Given the description of an element on the screen output the (x, y) to click on. 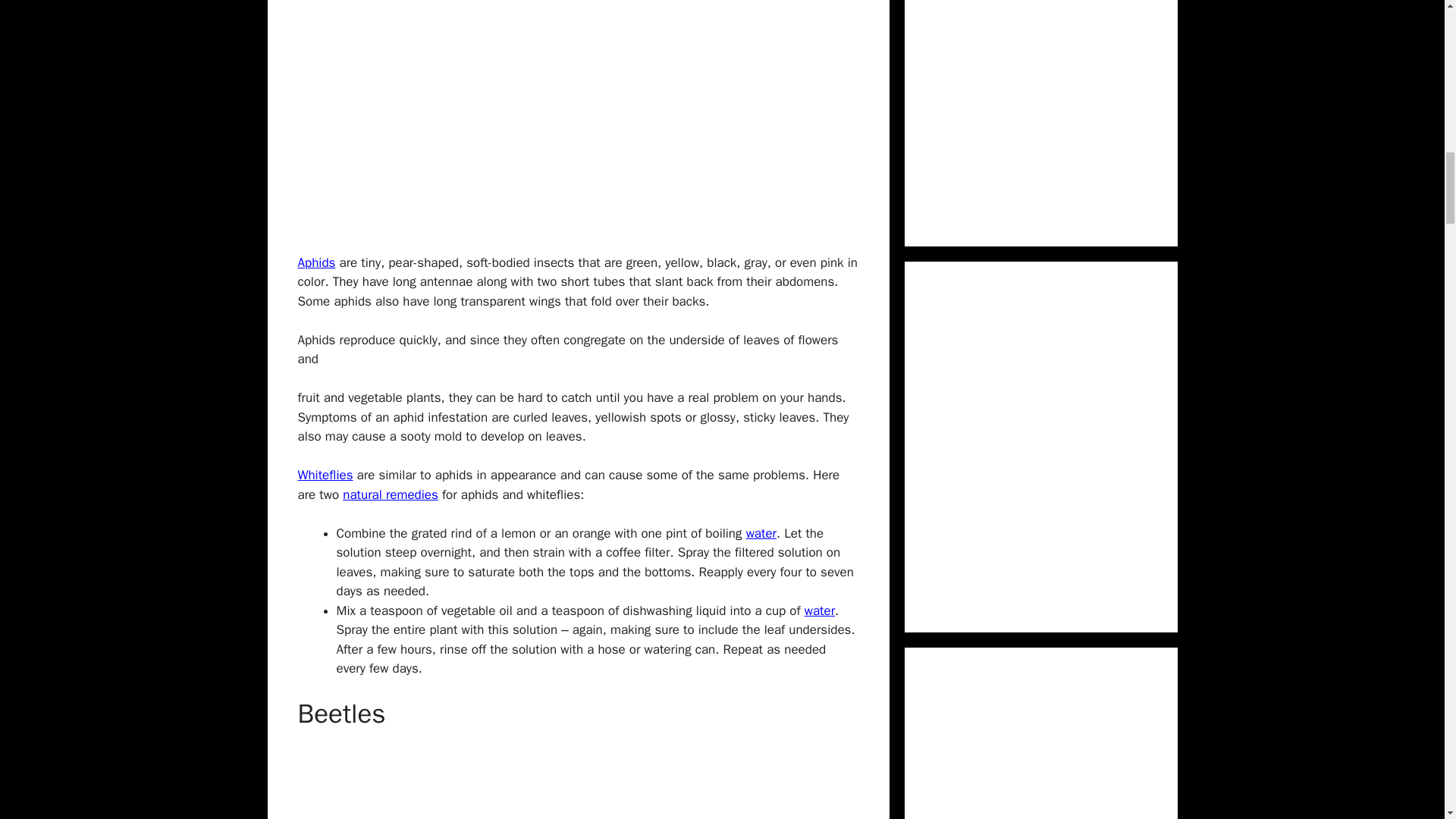
Megadrought USA auto (760, 533)
Megadrought USA auto (819, 610)
Home Remedies Secrets auto (390, 494)
